Given the description of an element on the screen output the (x, y) to click on. 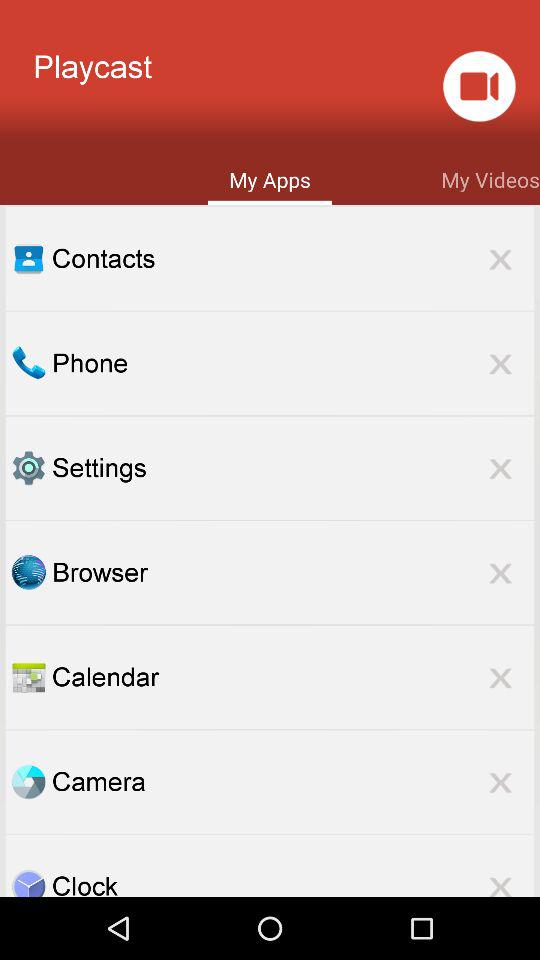
launch clock item (293, 882)
